Given the description of an element on the screen output the (x, y) to click on. 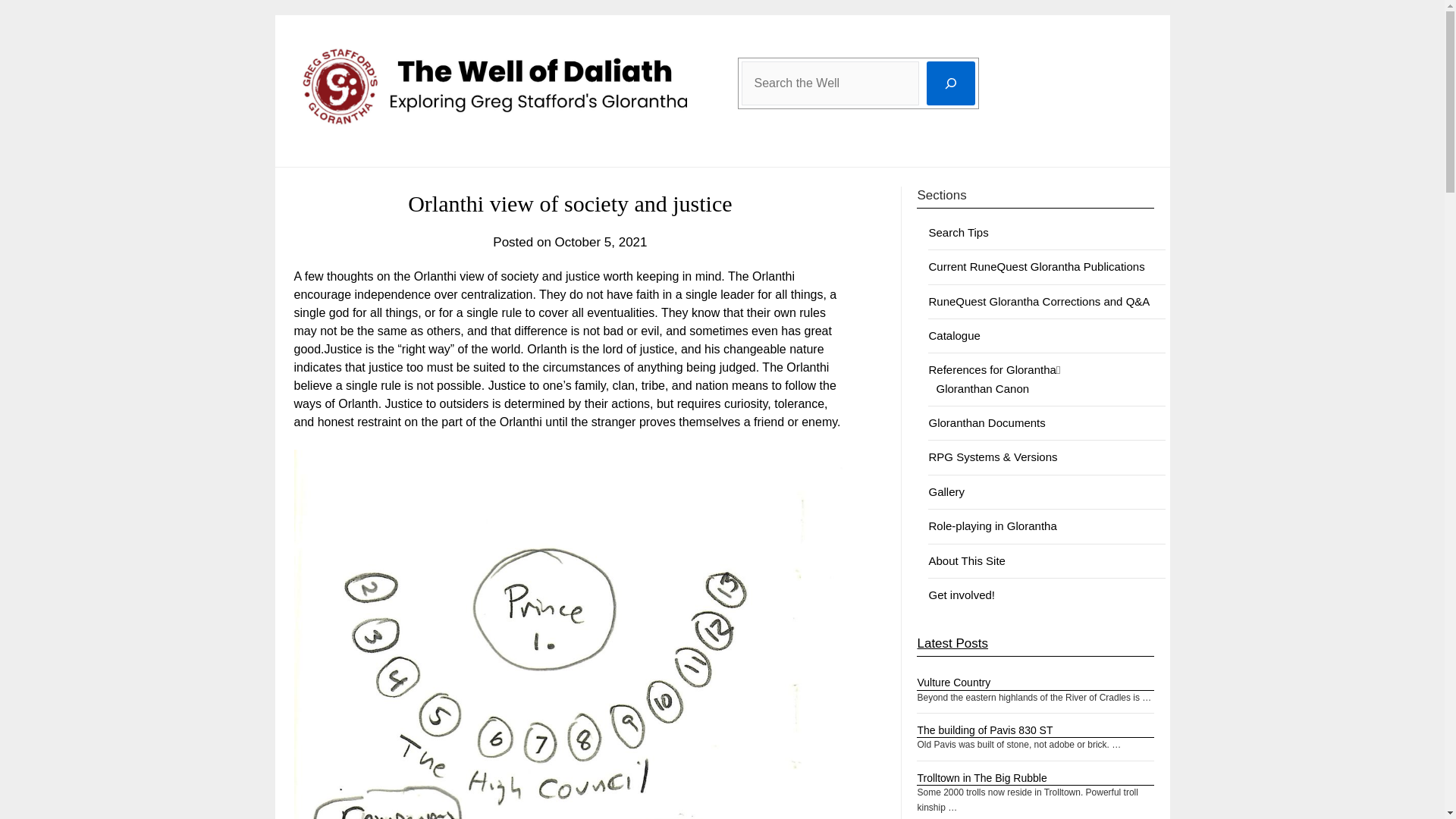
Latest Posts (952, 643)
Trolltown in The Big Rubble (981, 777)
Gloranthan Canon (982, 388)
Get involved! (961, 594)
References for Glorantha (991, 369)
Current RuneQuest Glorantha Publications (1036, 266)
Gallery (945, 491)
Catalogue (953, 335)
Role-playing in Glorantha (992, 525)
Search Tips (958, 232)
Latest Posts (952, 643)
Vulture Country (953, 682)
The building of Pavis 830 ST (984, 729)
Gloranthan Documents (986, 422)
About This Site (966, 560)
